Given the description of an element on the screen output the (x, y) to click on. 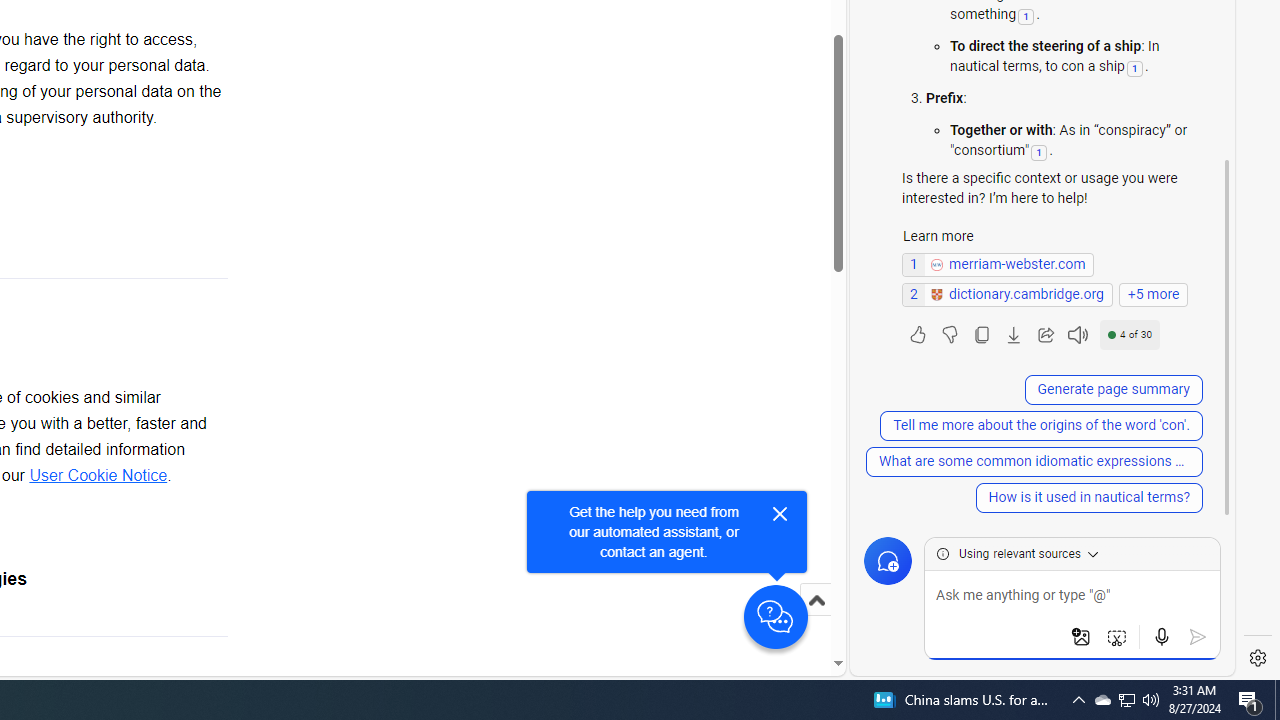
Scroll to top (816, 620)
User Cookie Notice (98, 476)
Scroll to top (816, 599)
